Given the description of an element on the screen output the (x, y) to click on. 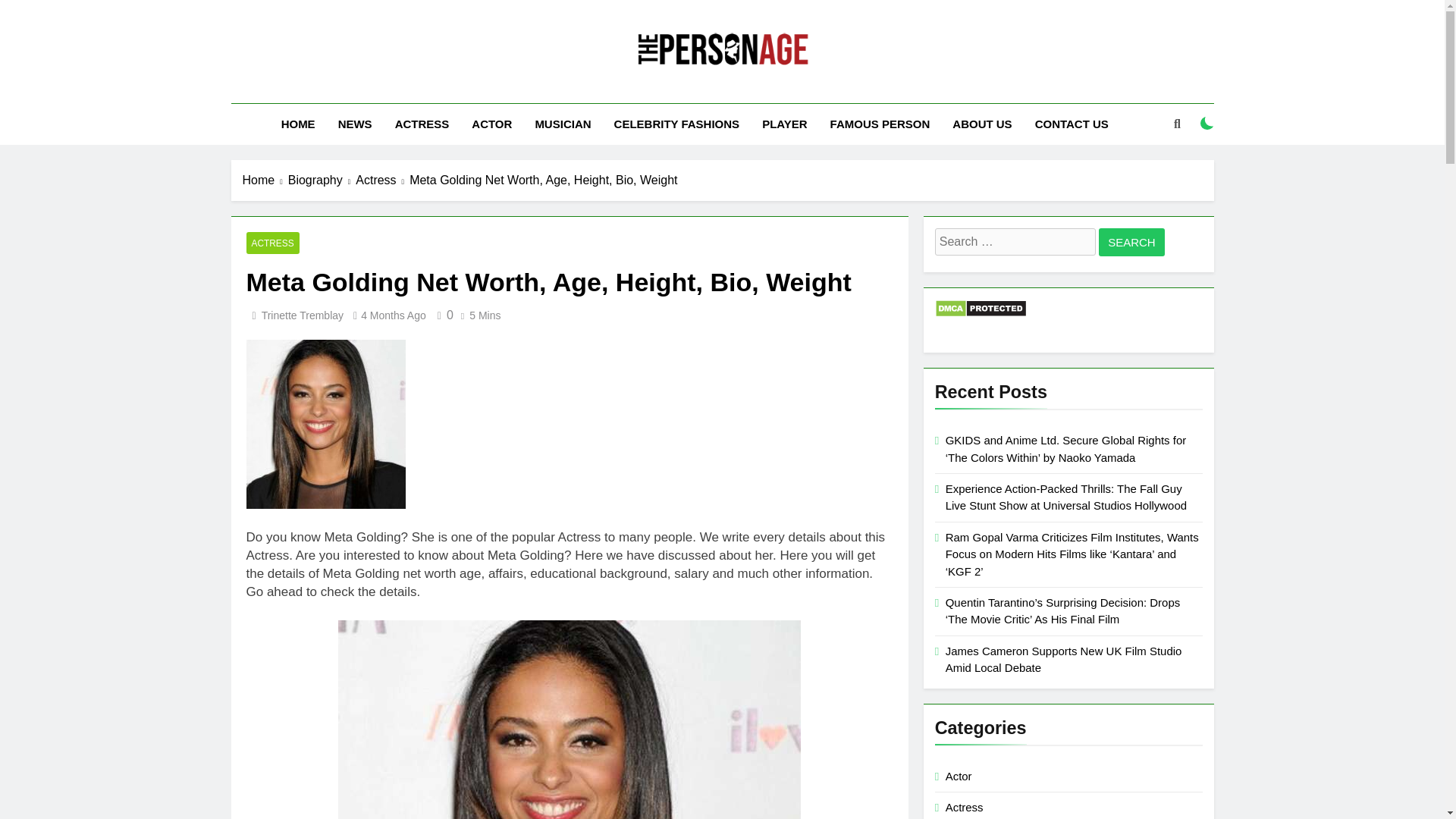
Trinette Tremblay (302, 315)
on (1206, 123)
CELEBRITY FASHIONS (676, 124)
Biography (322, 180)
ACTRESS (422, 124)
HOME (297, 124)
DMCA.com Protection Status (980, 313)
ACTOR (491, 124)
0 (442, 314)
PLAYER (784, 124)
ACTRESS (272, 242)
CONTACT US (1071, 124)
ABOUT US (981, 124)
FAMOUS PERSON (880, 124)
Search (1131, 242)
